Given the description of an element on the screen output the (x, y) to click on. 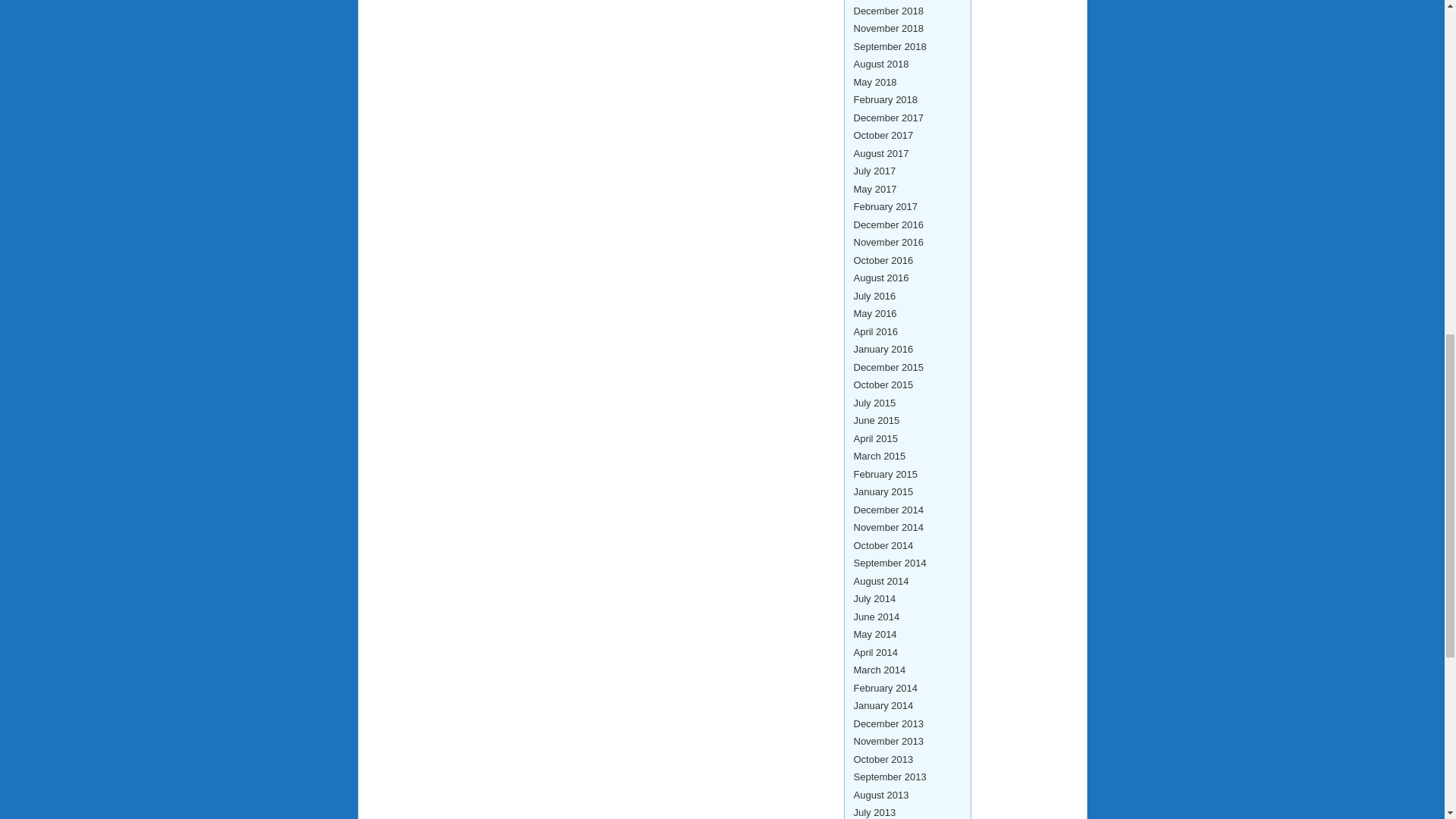
September 2018 (889, 46)
May 2018 (874, 81)
November 2018 (888, 28)
August 2018 (880, 63)
February 2018 (885, 99)
December 2018 (888, 10)
